Given the description of an element on the screen output the (x, y) to click on. 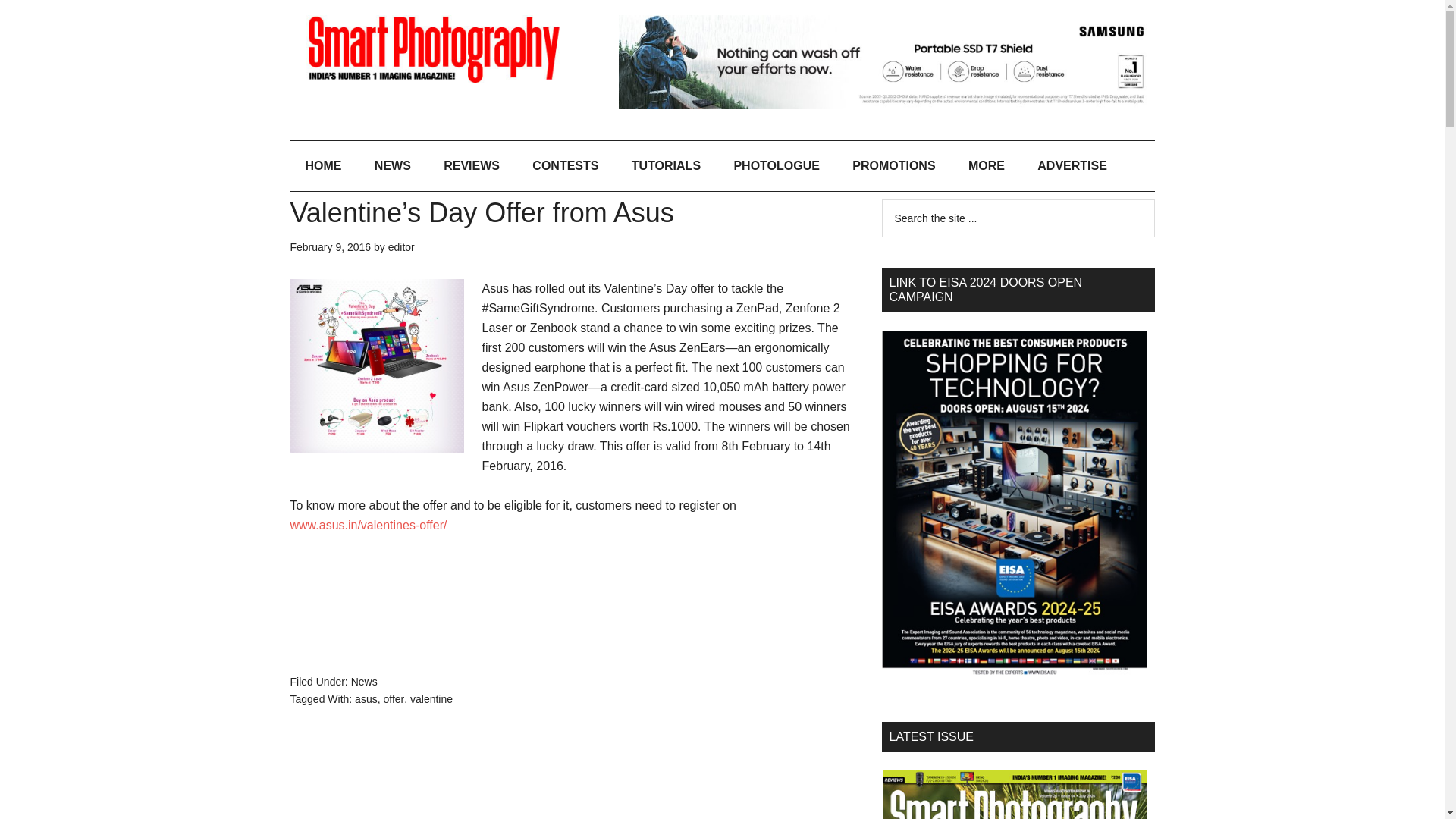
PROMOTIONS (893, 165)
NEWS (392, 165)
CONTESTS (564, 165)
TUTORIALS (665, 165)
editor (401, 246)
REVIEWS (471, 165)
PHOTOLOGUE (775, 165)
HOME (322, 165)
ADVERTISE (1072, 165)
MORE (986, 165)
